Given the description of an element on the screen output the (x, y) to click on. 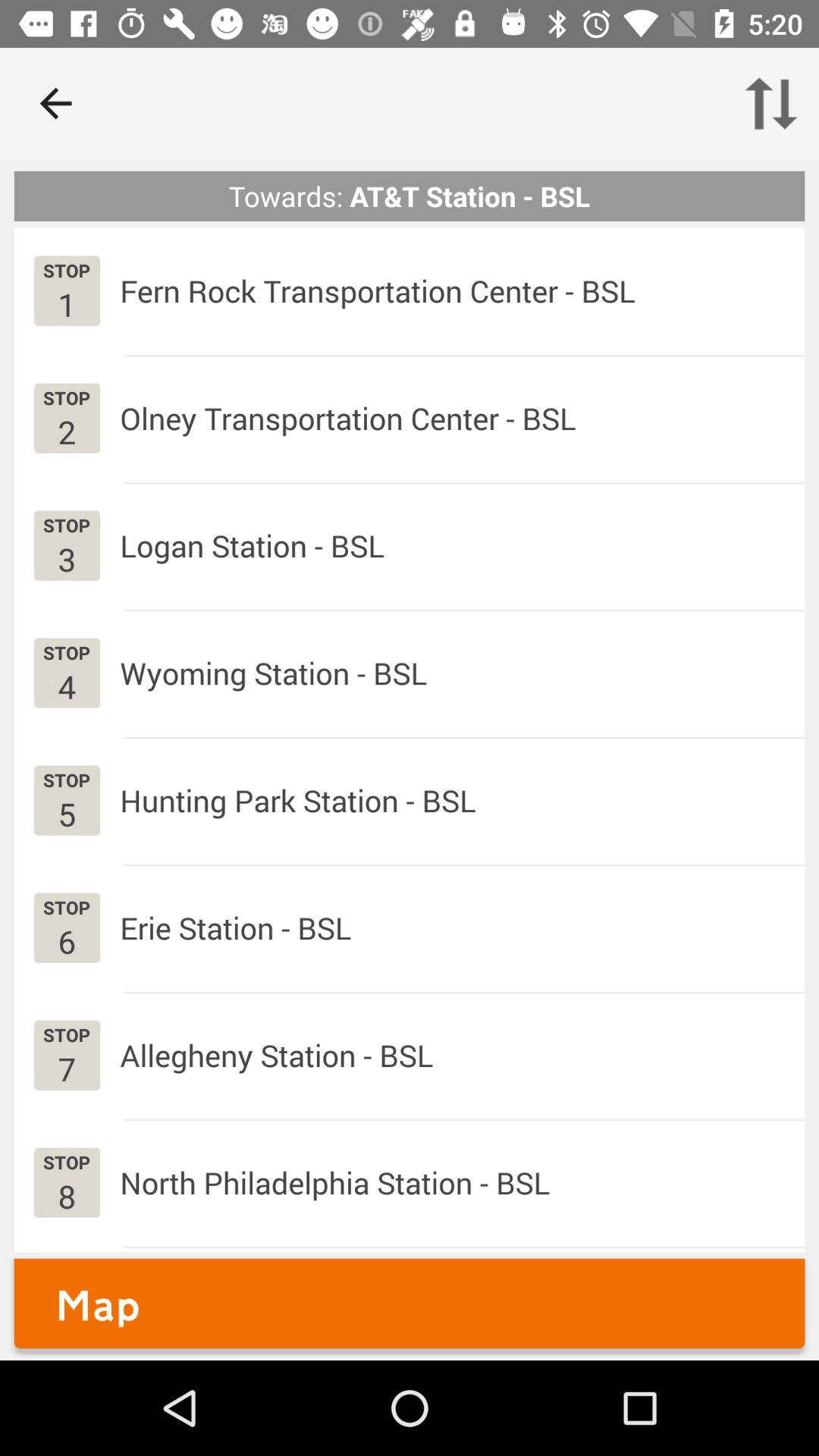
open item below the stop (66, 940)
